Given the description of an element on the screen output the (x, y) to click on. 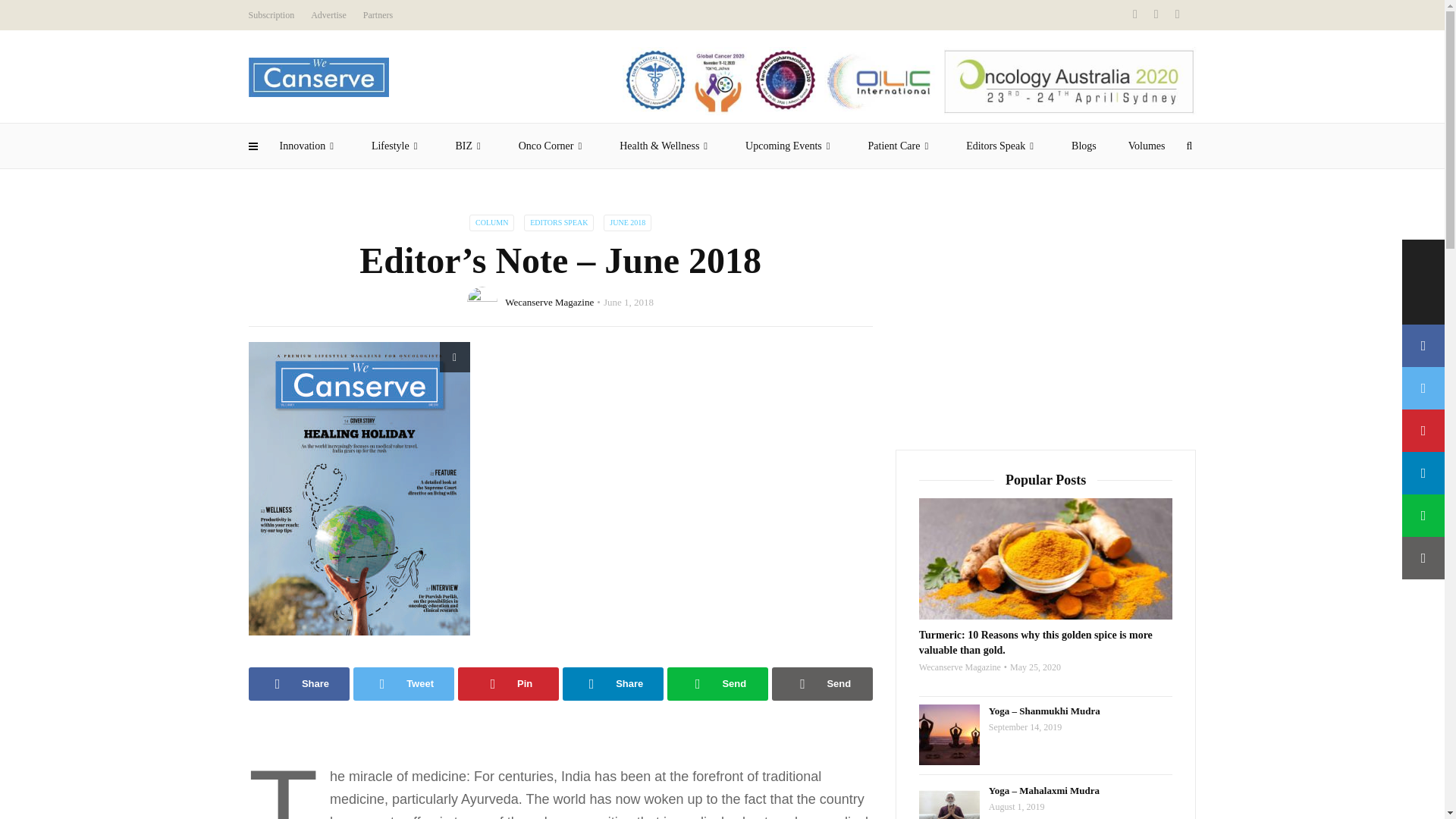
Advertisement (1045, 320)
Yoga - Shanmukhi Mudra 6 (948, 734)
